Given the description of an element on the screen output the (x, y) to click on. 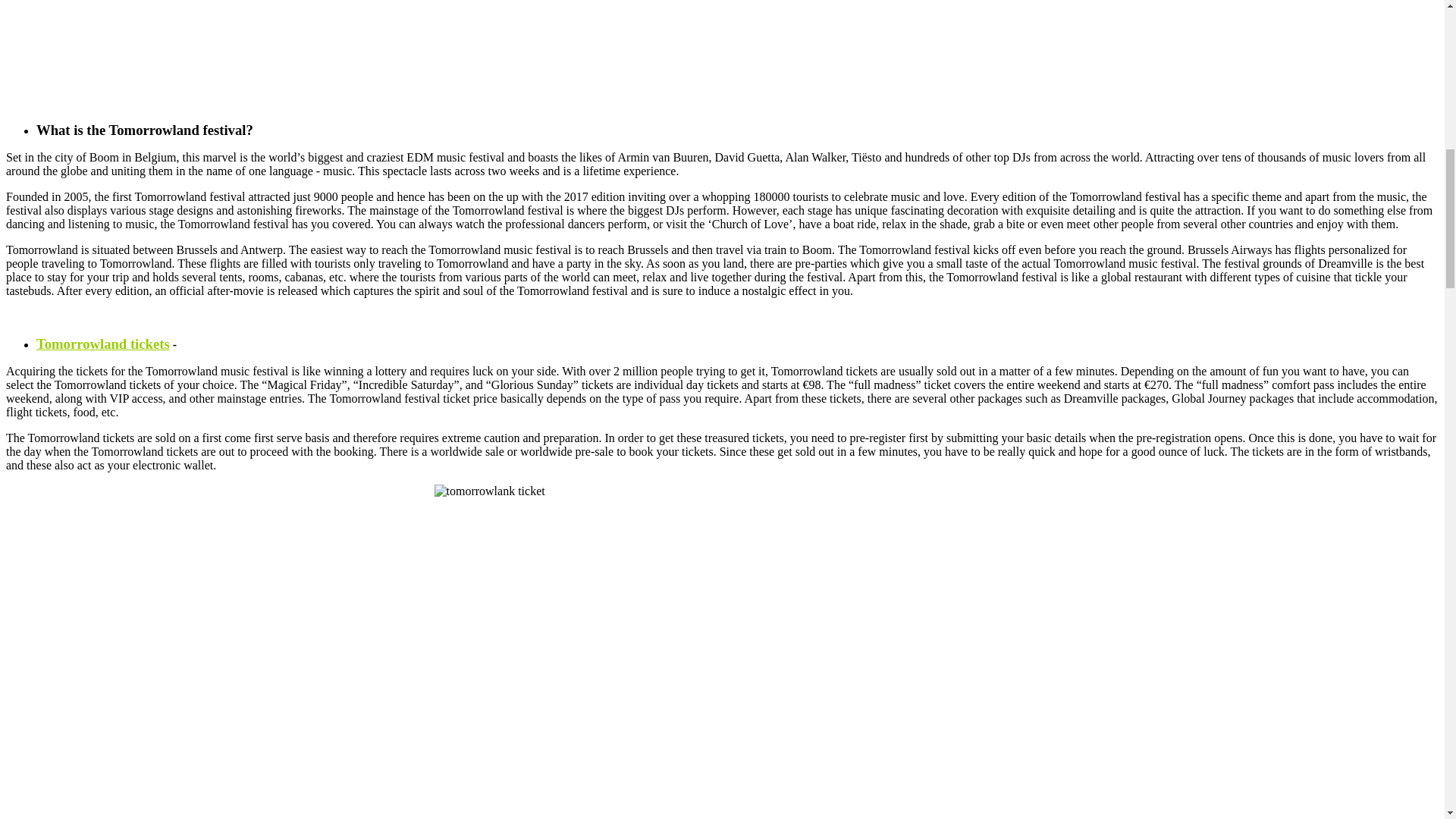
BTW Visas (103, 344)
tomorrowland music festival (721, 29)
Tomorrowland tickets (103, 344)
